Given the description of an element on the screen output the (x, y) to click on. 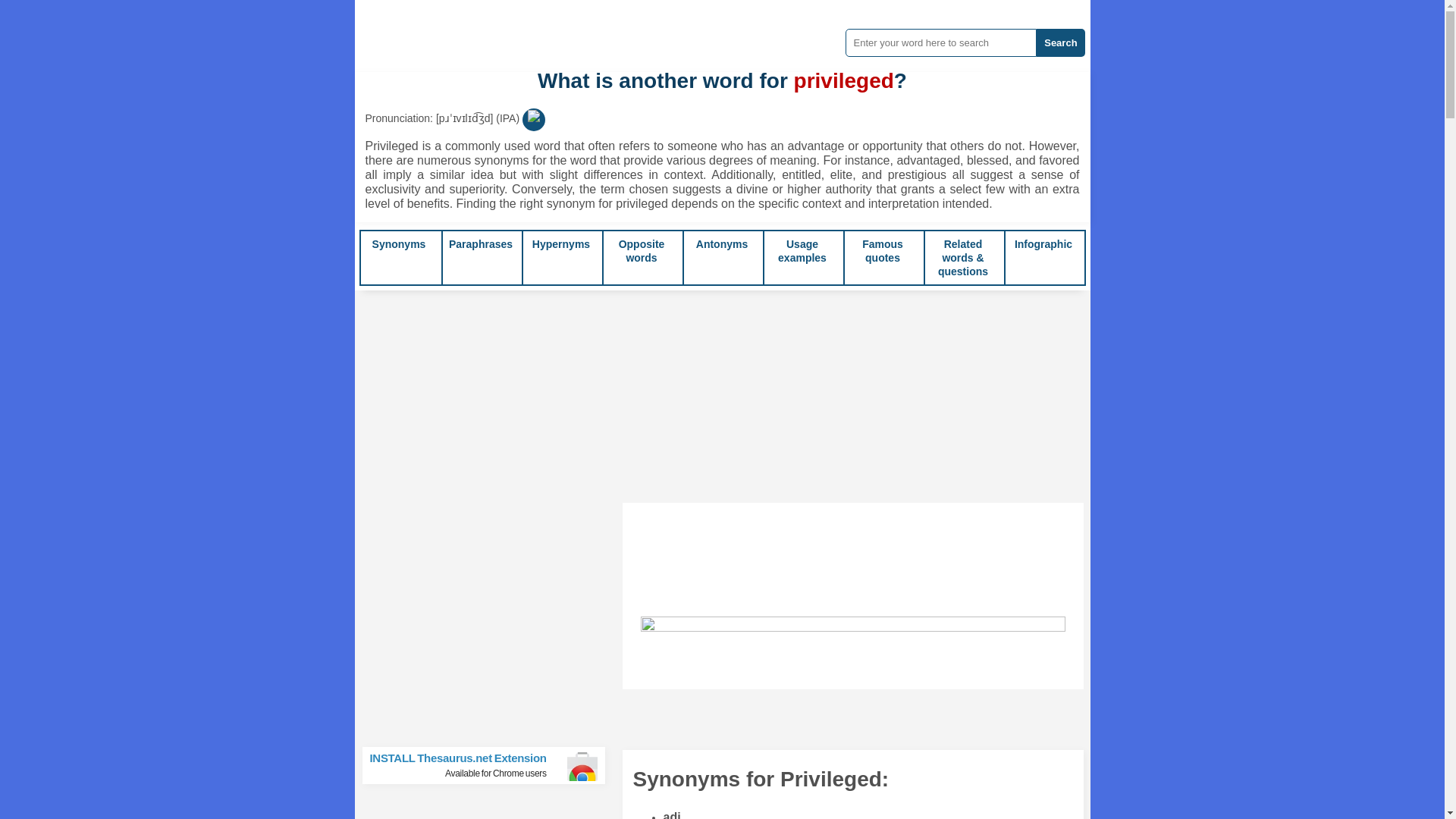
Search (1060, 42)
Opposite words (641, 250)
Opposite words (641, 250)
Synonyms (399, 244)
Usage examples (802, 250)
Famous quotes (881, 250)
Famous quotes (881, 250)
Hypernyms (560, 244)
Infographic (1042, 244)
Paraphrases (480, 244)
